Given the description of an element on the screen output the (x, y) to click on. 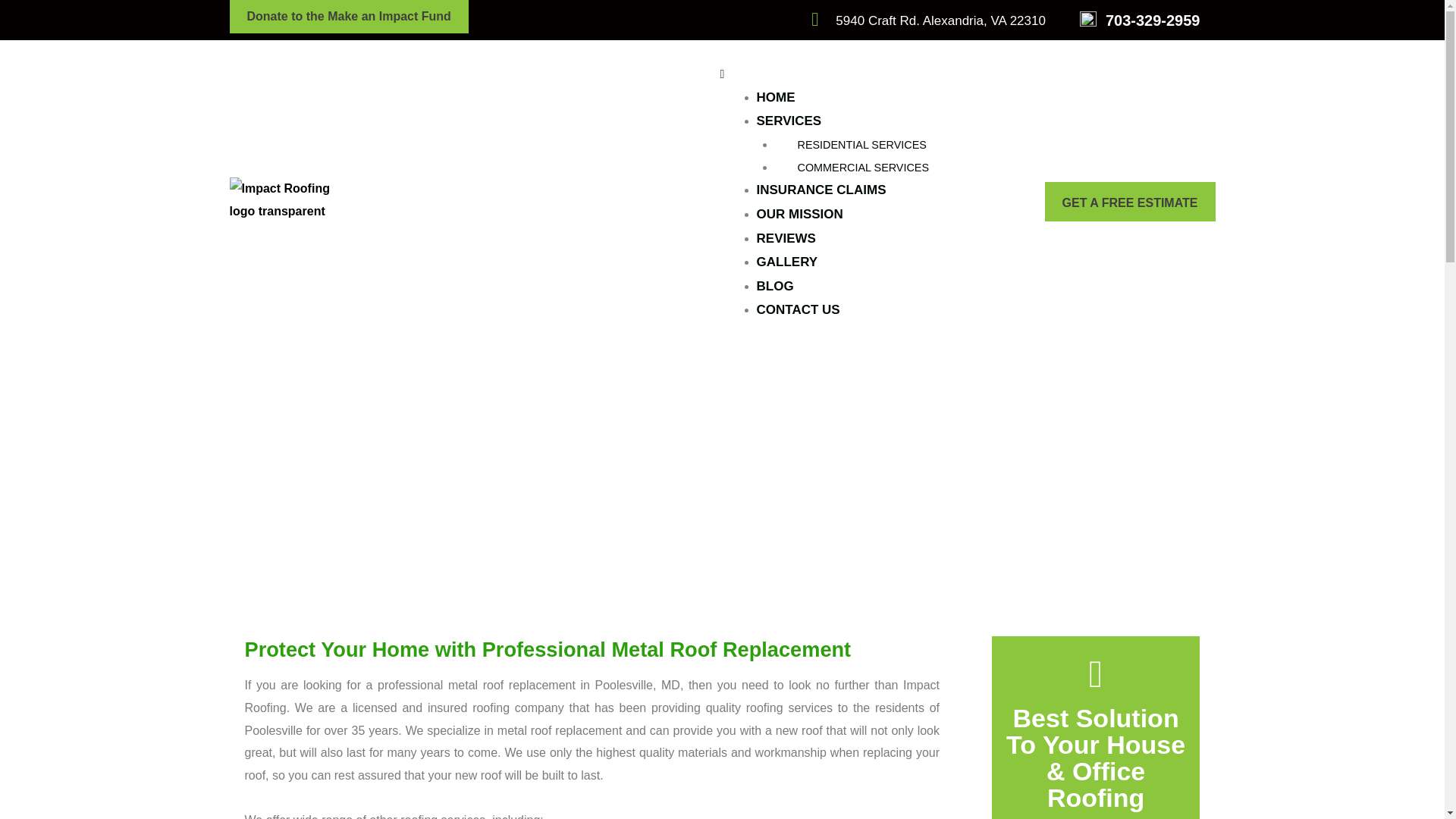
GET A FREE ESTIMATE (1130, 201)
Donate to the Make an Impact Fund (347, 16)
GALLERY (787, 261)
COMMERCIAL SERVICES (863, 166)
INSURANCE CLAIMS (821, 189)
RESIDENTIAL SERVICES (861, 144)
SERVICES (789, 120)
OUR MISSION (800, 213)
HOME (775, 97)
BLOG (775, 285)
703-329-2959 (1152, 20)
CONTACT US (798, 309)
REVIEWS (786, 238)
